Given the description of an element on the screen output the (x, y) to click on. 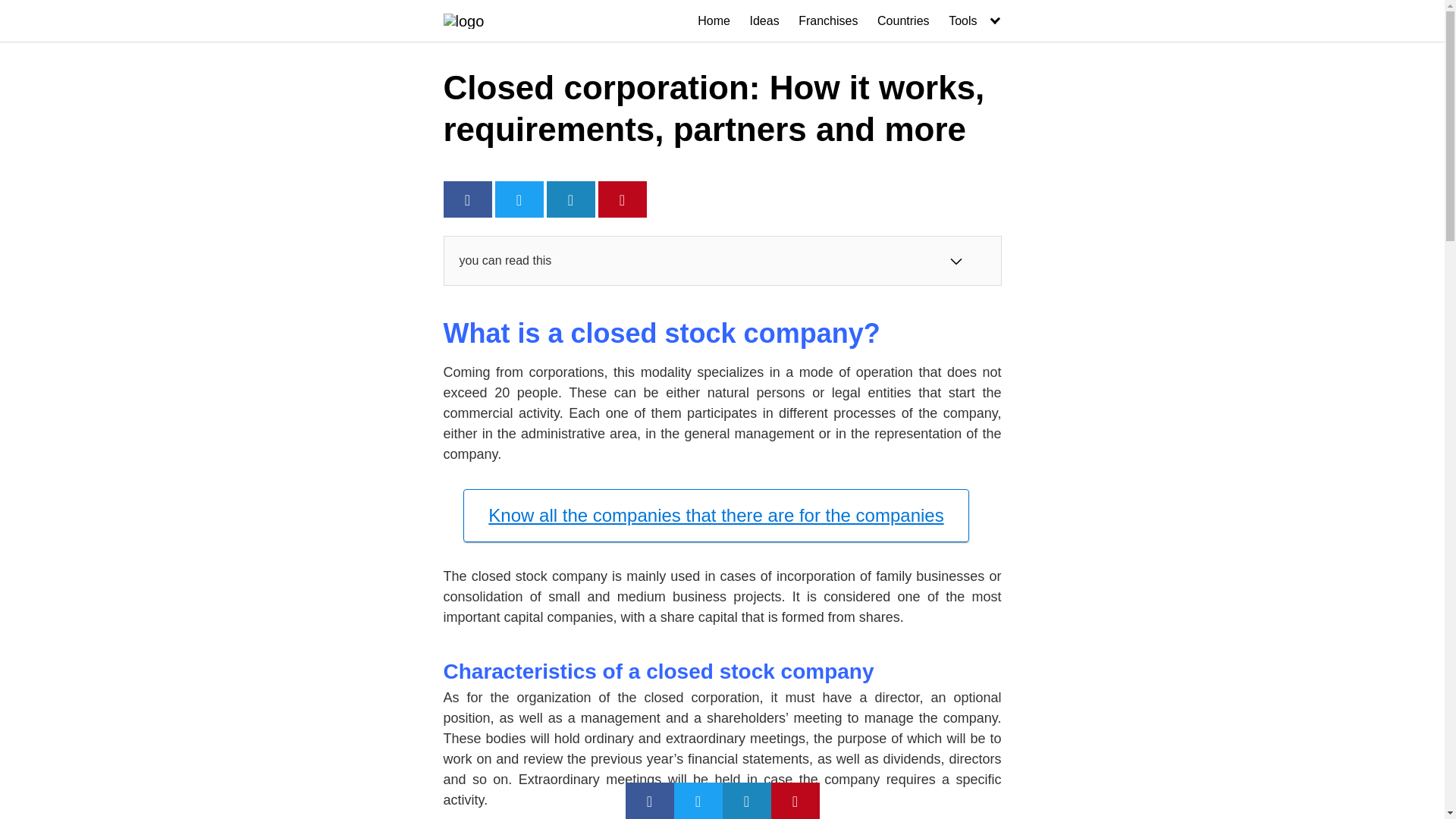
Countries (902, 20)
Franchises (827, 20)
Tools (975, 20)
Home (713, 20)
Know all the companies that there are for the companies (715, 515)
Ideas (763, 20)
